Given the description of an element on the screen output the (x, y) to click on. 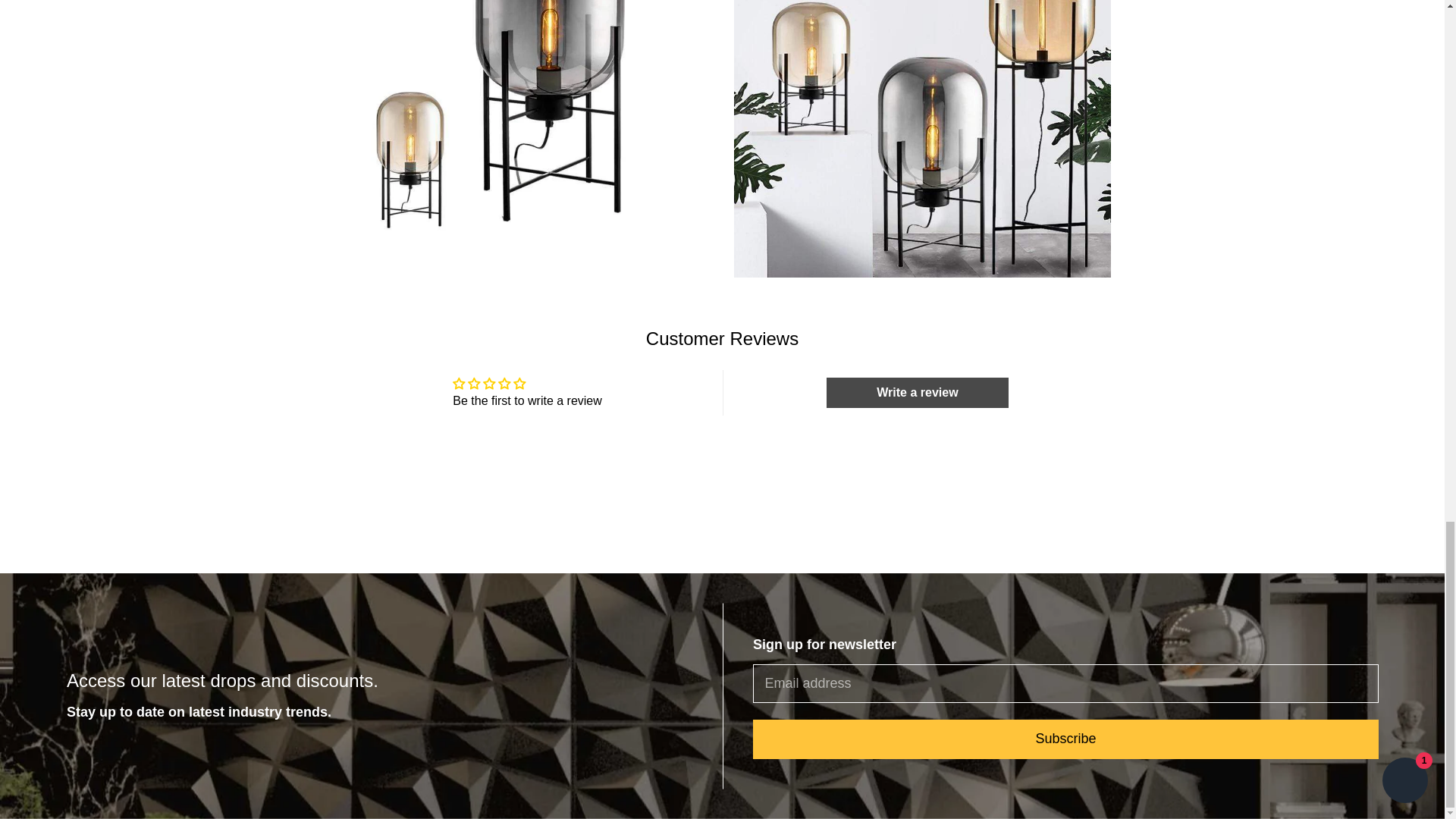
Subscribe (1064, 739)
